Given the description of an element on the screen output the (x, y) to click on. 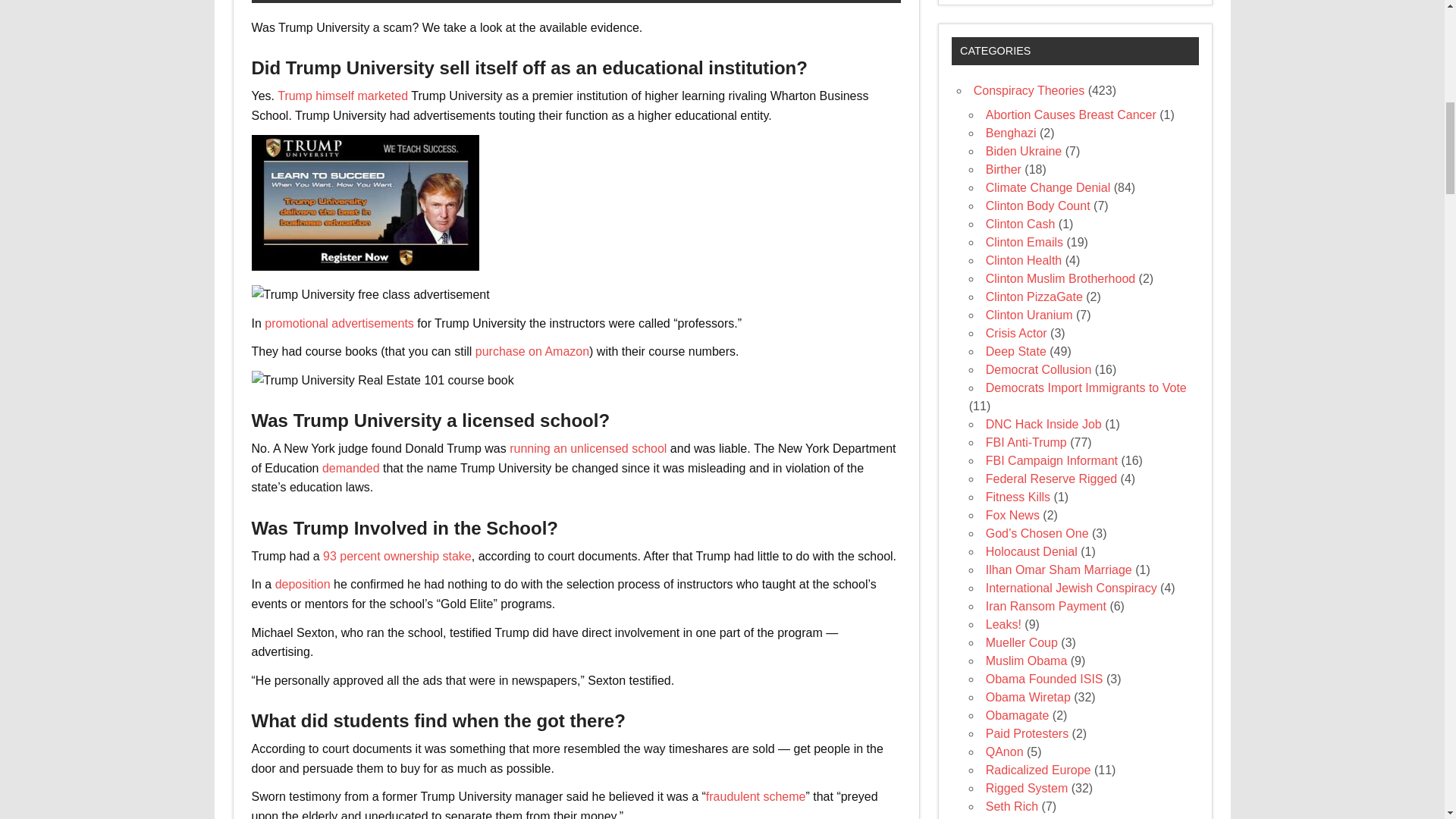
promotional advertisements (338, 323)
Trump himself marketed (342, 95)
purchase on Amazon (532, 350)
